Given the description of an element on the screen output the (x, y) to click on. 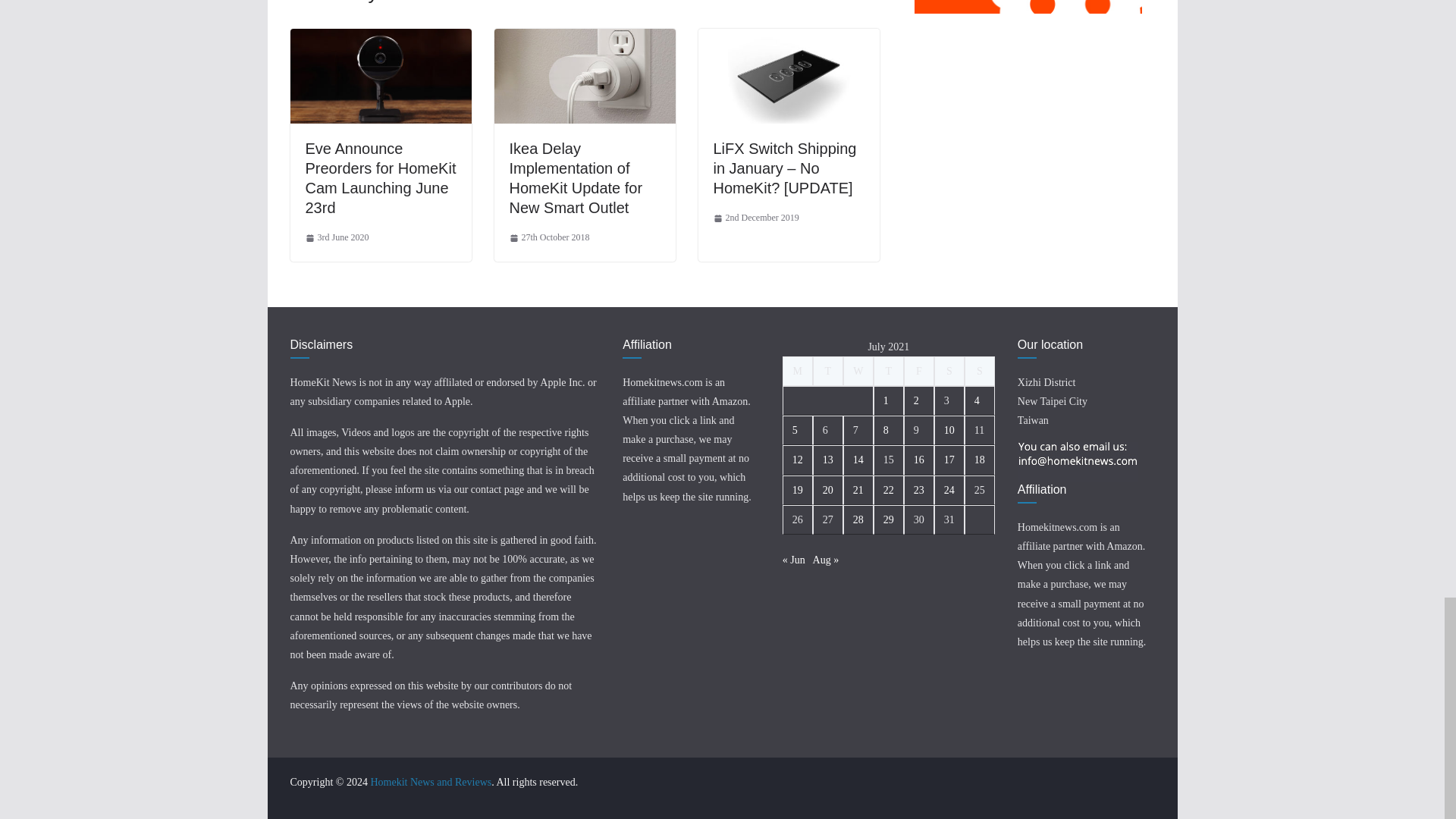
Eve Announce Preorders for HomeKit Cam Launching June 23rd (379, 178)
11:09 am (755, 217)
8:33 pm (336, 238)
1:56 pm (549, 238)
Eve Announce Preorders for HomeKit Cam Launching June 23rd (379, 38)
